Given the description of an element on the screen output the (x, y) to click on. 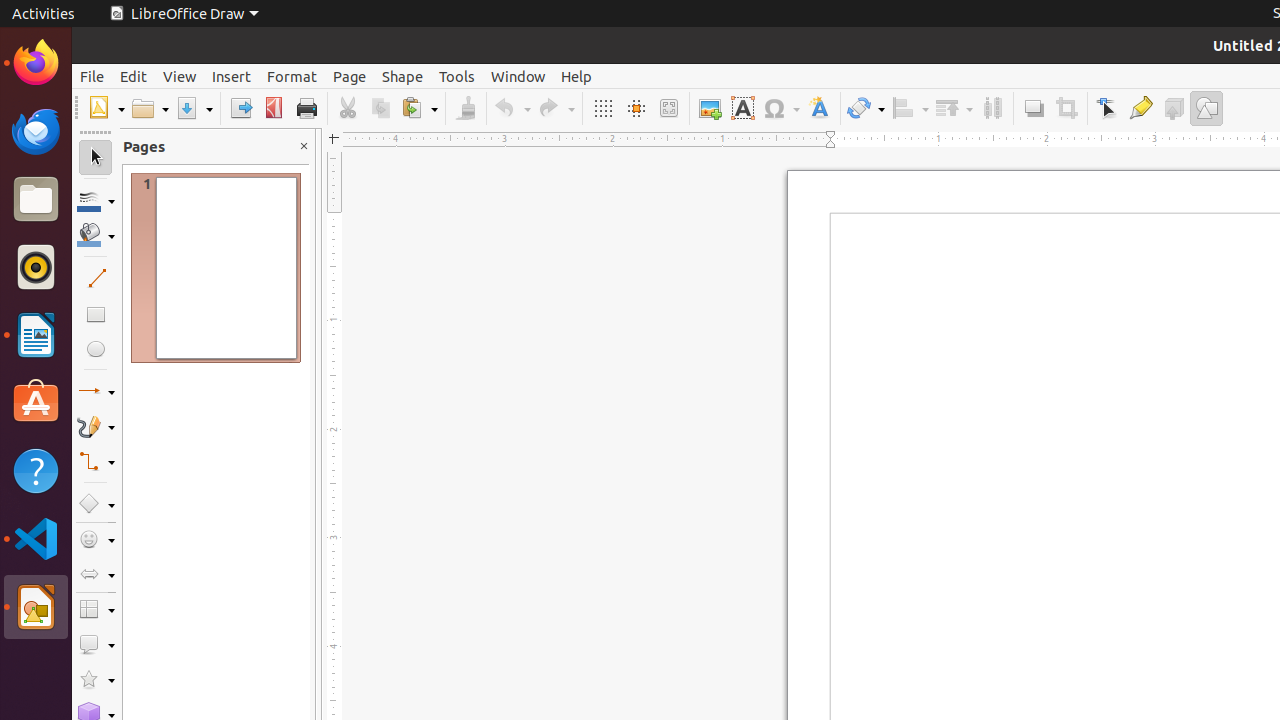
Export Element type: push-button (240, 108)
Line Color Element type: push-button (96, 200)
Curves and Polygons Element type: push-button (96, 426)
Fill Color Element type: push-button (259, 144)
Distribution Element type: push-button (992, 108)
